Given the description of an element on the screen output the (x, y) to click on. 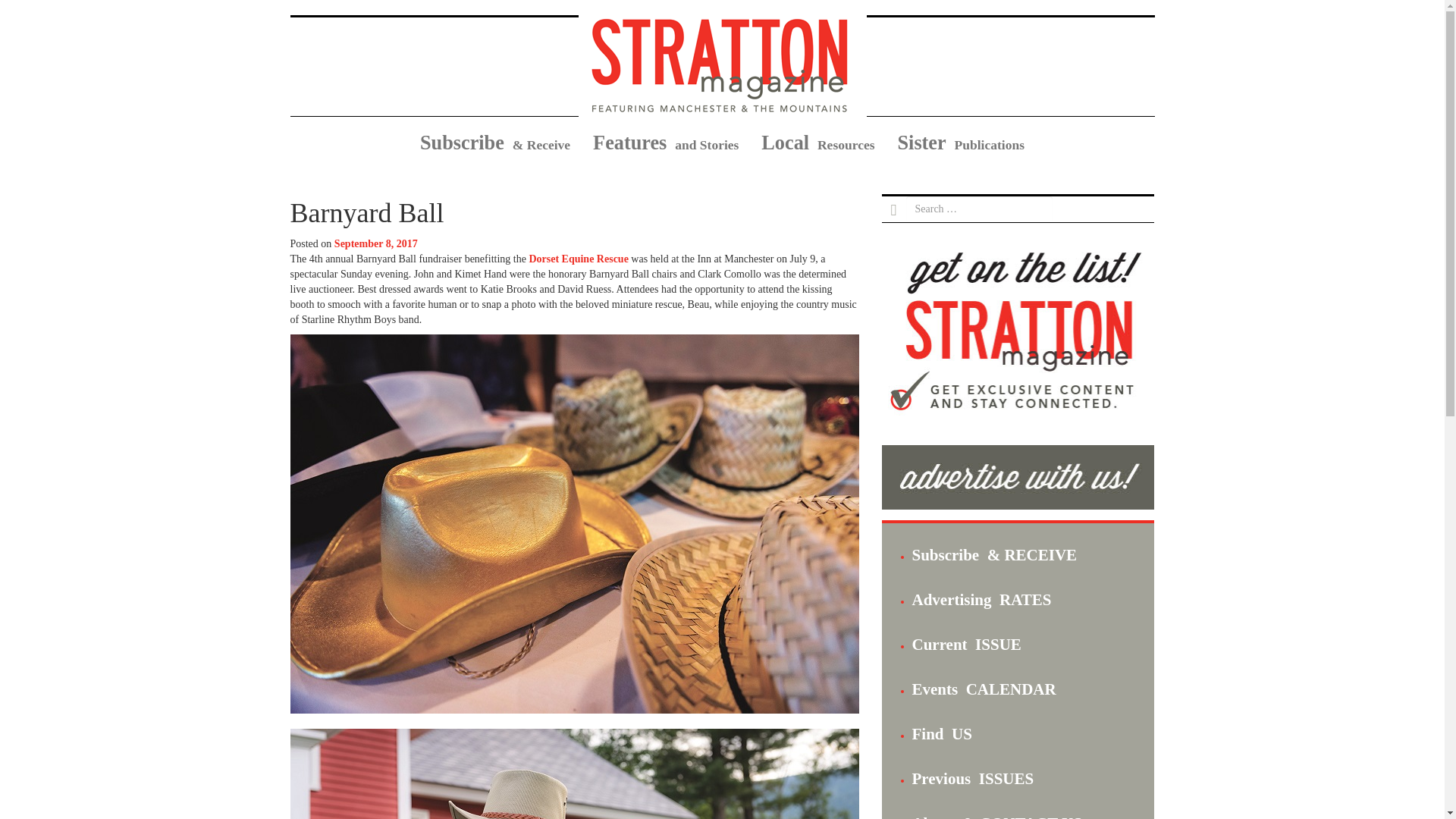
Sister Publications (960, 143)
Find US (941, 733)
Current ISSUE (965, 644)
Features and Stories (664, 143)
Dorset Equine Rescue (577, 258)
Local Resources (817, 143)
September 8, 2017 (375, 243)
Events CALENDAR (983, 689)
Previous ISSUES (972, 778)
